Given the description of an element on the screen output the (x, y) to click on. 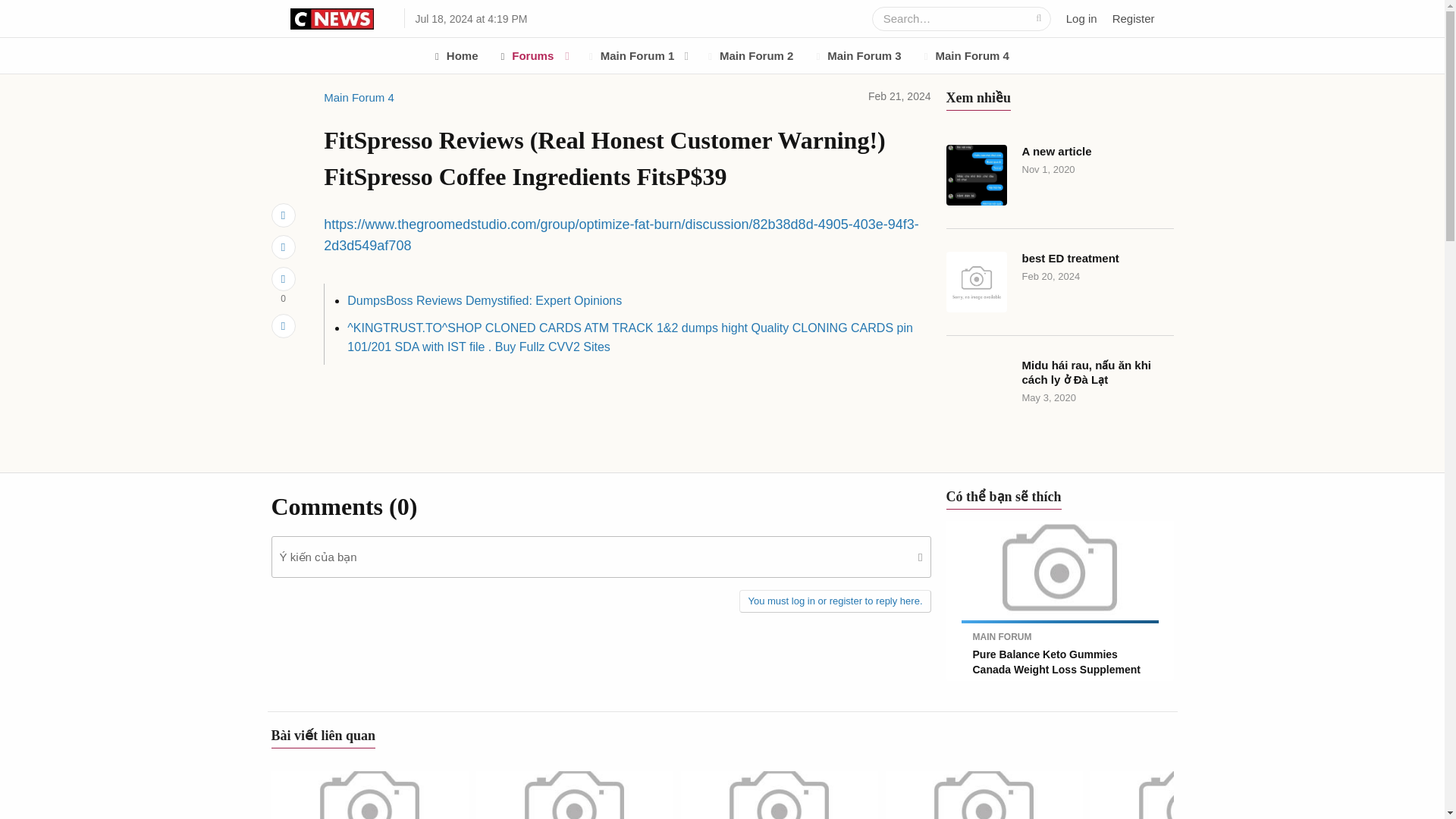
Feb 21, 2024 at 8:36 PM (899, 96)
May 3, 2020 at 9:09 AM (1049, 397)
Nov 1, 2020 at 5:03 AM (1048, 169)
Jul 18, 2024 at 4:19 PM (401, 17)
Main Forum 3 (858, 55)
DumpsBoss Reviews Demystified: Expert Opinions (484, 300)
Main Forum 4 (966, 55)
0 (282, 278)
A new article (1059, 174)
Main Forum 1 (626, 55)
Pure Balance Keto Gummies Canada Weight Loss Supplement (1059, 600)
Forums (522, 55)
Home (456, 55)
Feb 20, 2024 at 4:57 PM (1051, 276)
